Given the description of an element on the screen output the (x, y) to click on. 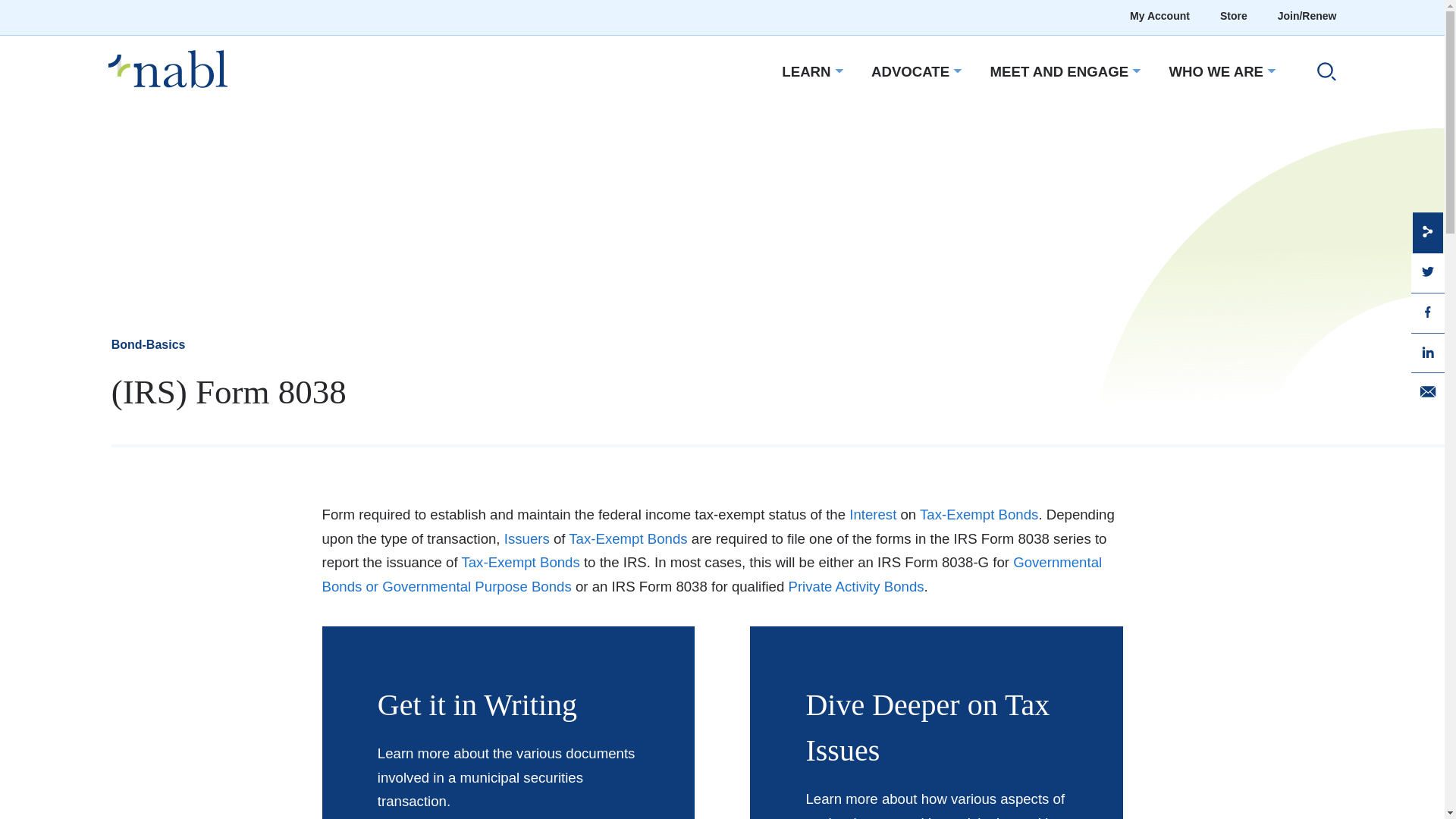
Open sub menu (955, 70)
WHO WE ARE (1216, 73)
Open sub menu (1269, 70)
Share this page on LinkedIn (1427, 351)
Share this page on Facebook (1427, 311)
MEET AND ENGAGE (1059, 73)
Share this page on Twitter (1427, 271)
Store (1233, 17)
My Account (1159, 17)
Open sub menu (1134, 70)
ADVOCATE (909, 73)
Toggle search open or closed (1320, 73)
Email a link to this page (1427, 391)
Open sub menu (837, 70)
